Given the description of an element on the screen output the (x, y) to click on. 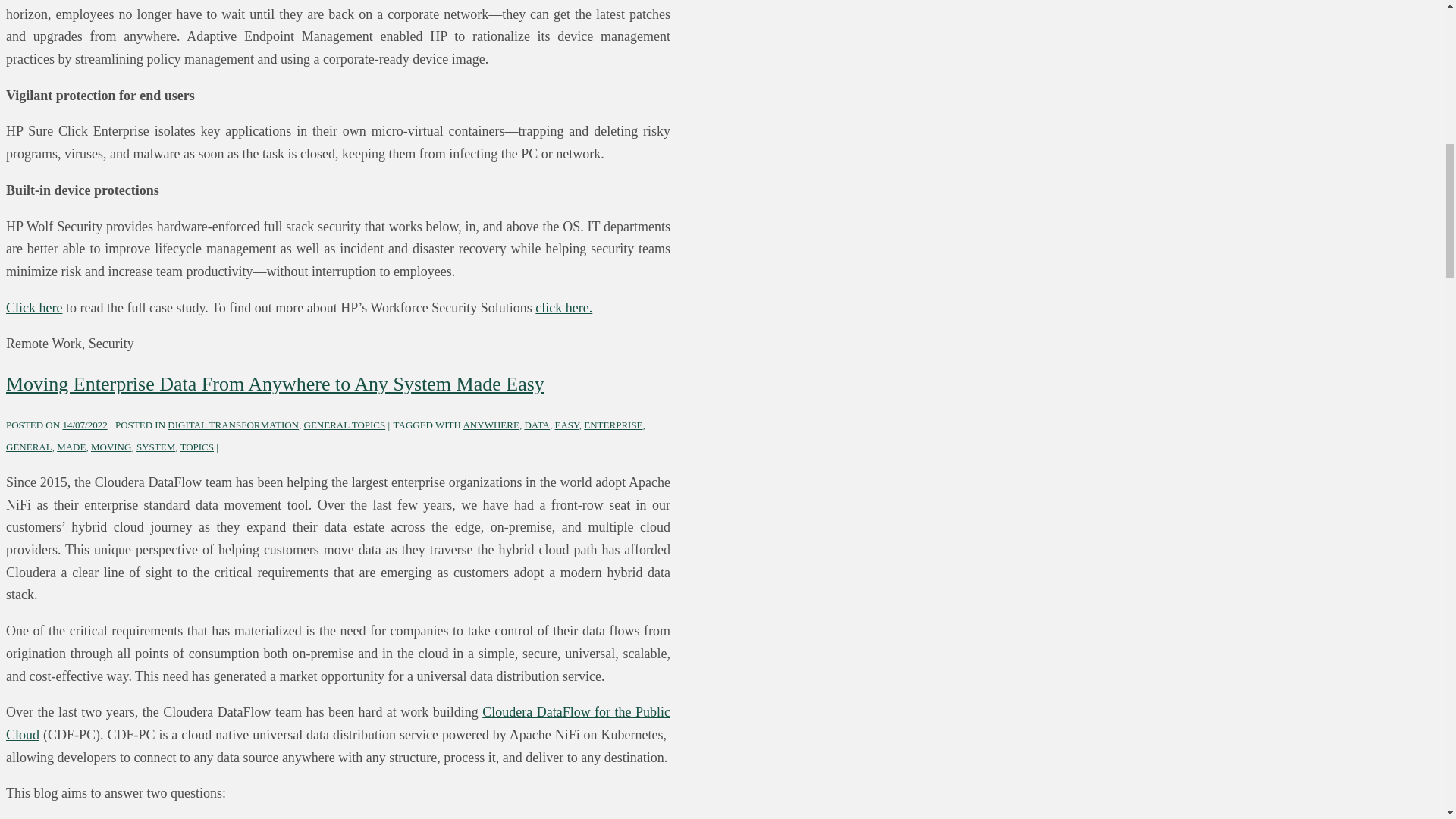
GENERAL (28, 446)
click here. (563, 307)
SYSTEM (155, 446)
EASY (566, 424)
Click here (33, 307)
Moving Enterprise Data From Anywhere to Any System Made Easy (84, 424)
DATA (537, 424)
ANYWHERE (490, 424)
MOVING (110, 446)
GENERAL TOPICS (343, 424)
